Given the description of an element on the screen output the (x, y) to click on. 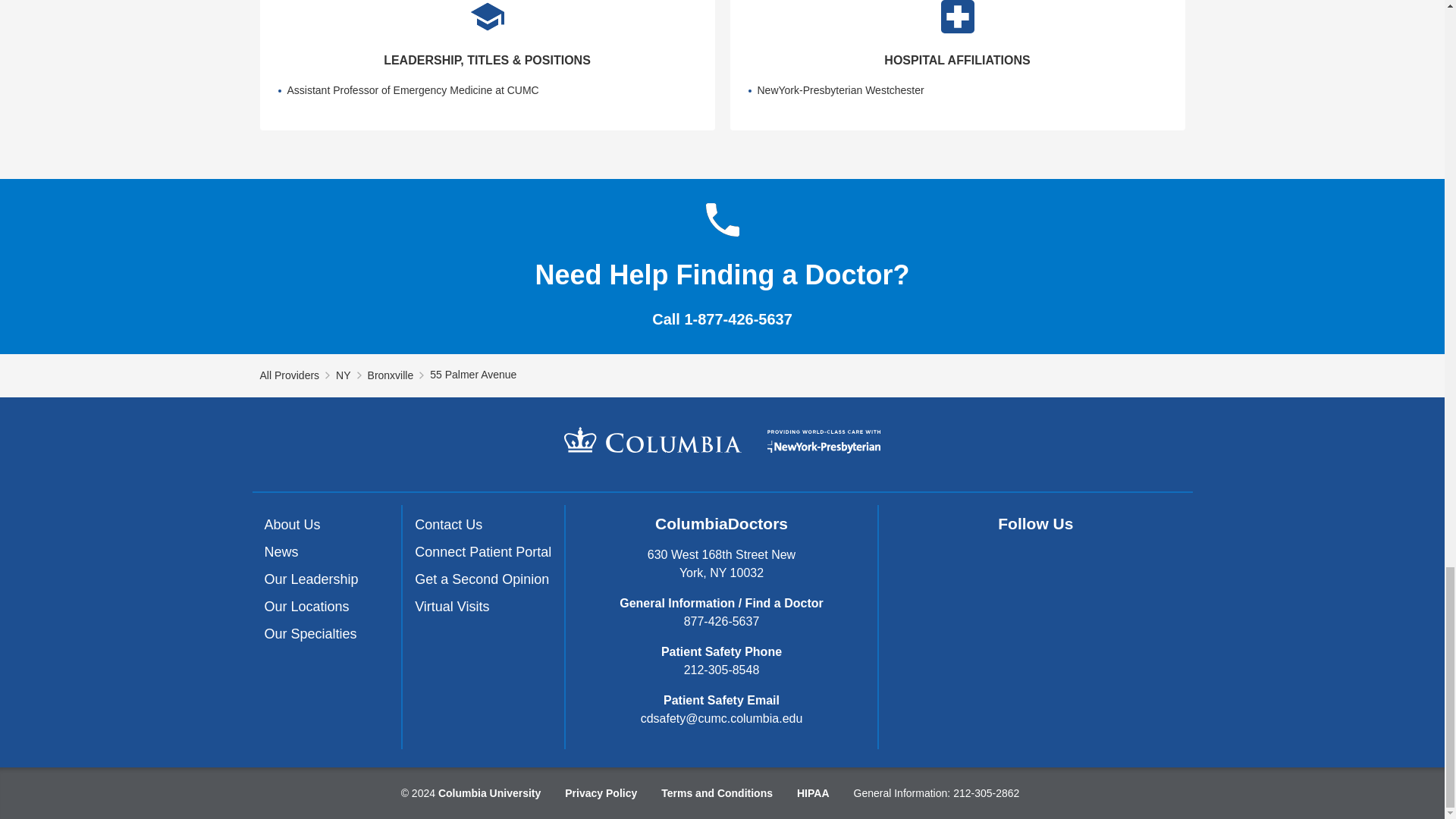
Call 1-877-426-5637 (722, 319)
